Given the description of an element on the screen output the (x, y) to click on. 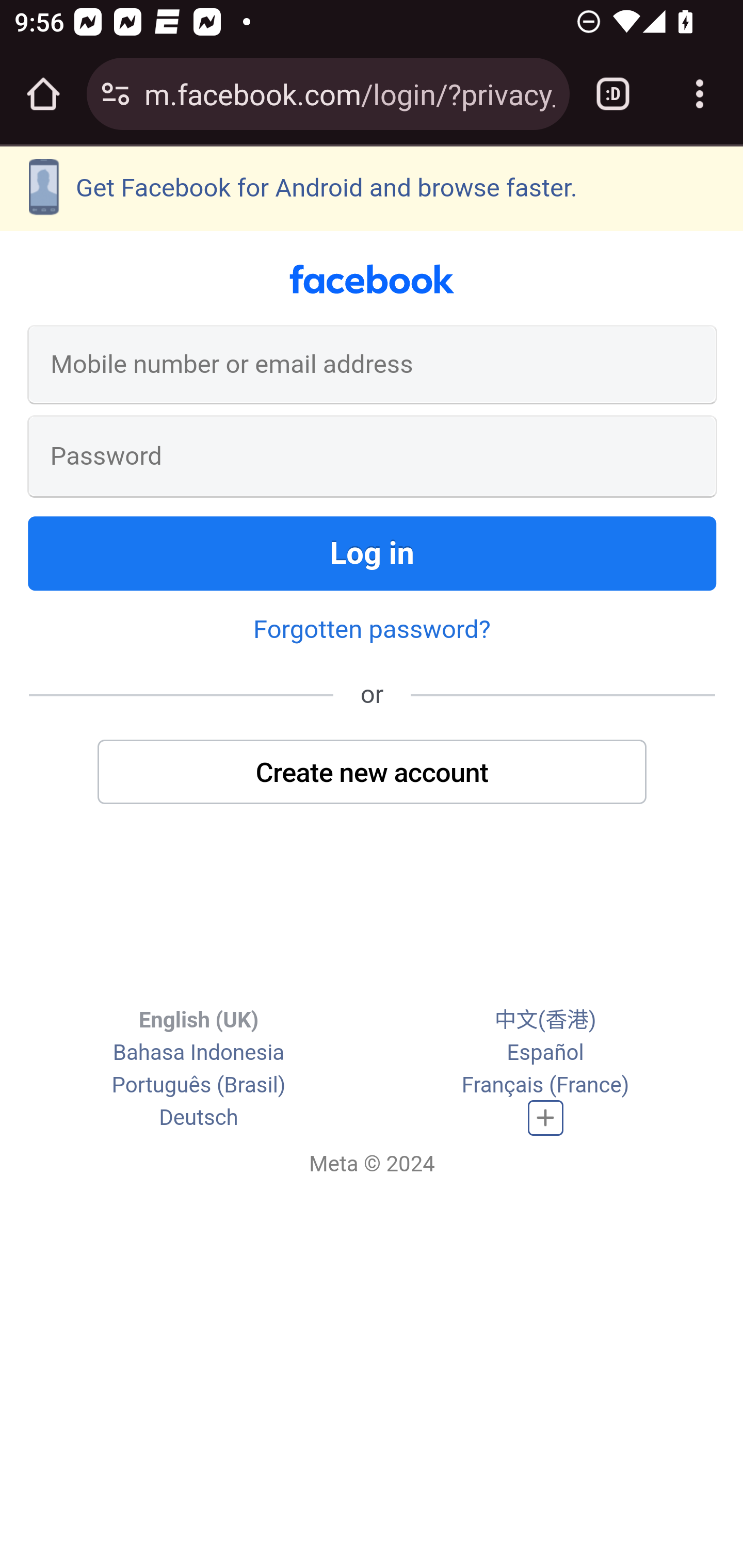
Open the home page (43, 93)
Connection is secure (115, 93)
Switch or close tabs (612, 93)
Customize and control Google Chrome (699, 93)
Get Facebook for Android and browse faster. (371, 188)
facebook (372, 279)
Log in (372, 552)
Forgotten password? (371, 628)
Create new account (372, 771)
中文(香港) (544, 1020)
Bahasa Indonesia (198, 1052)
Español (545, 1052)
Português (Brasil) (197, 1085)
Français (France) (544, 1085)
Complete list of languages (545, 1117)
Deutsch (198, 1118)
